Given the description of an element on the screen output the (x, y) to click on. 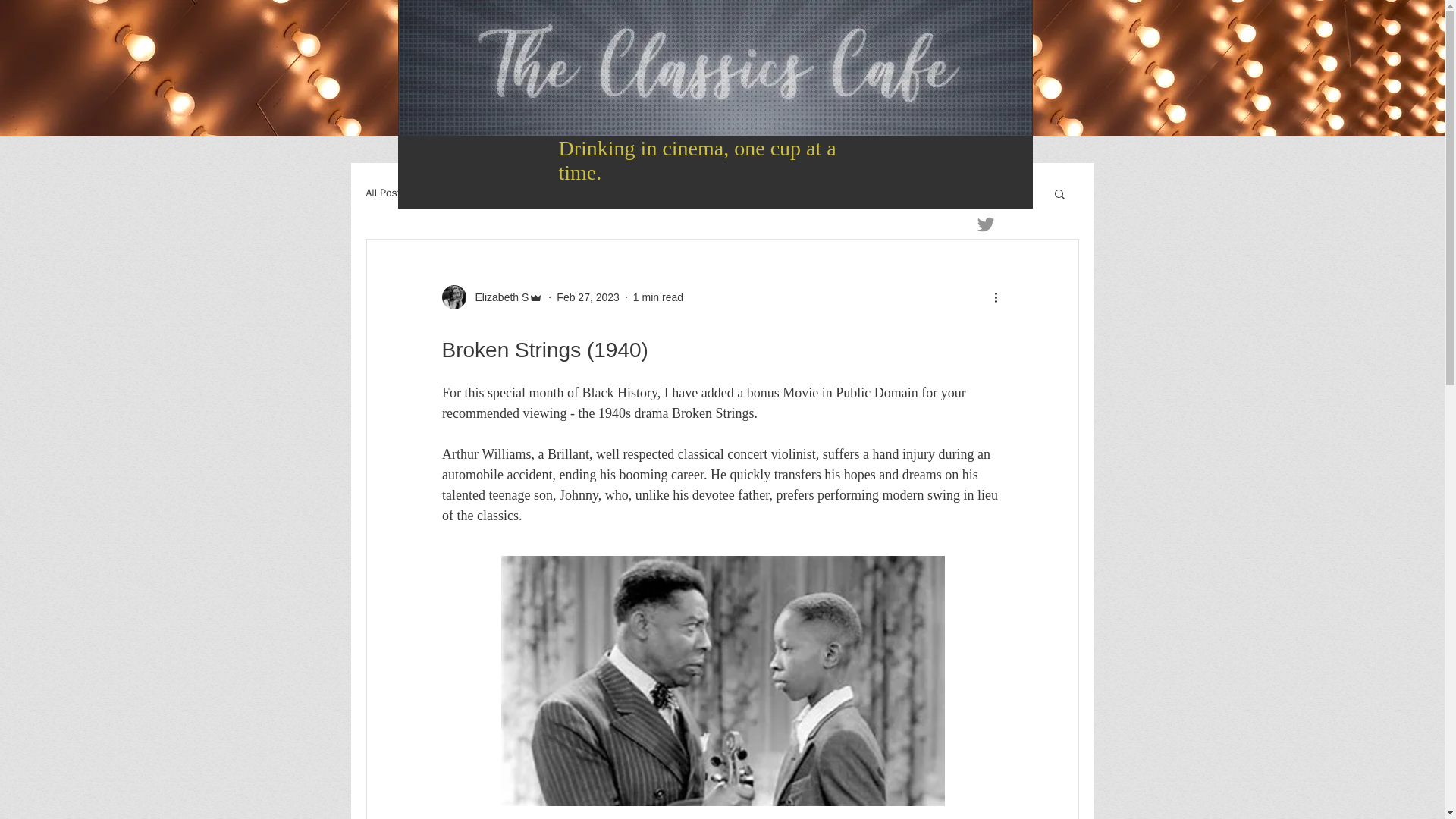
Elizabeth S (492, 297)
1 min read (657, 297)
Elizabeth S (496, 297)
Feb 27, 2023 (588, 297)
All Posts (385, 192)
